Given the description of an element on the screen output the (x, y) to click on. 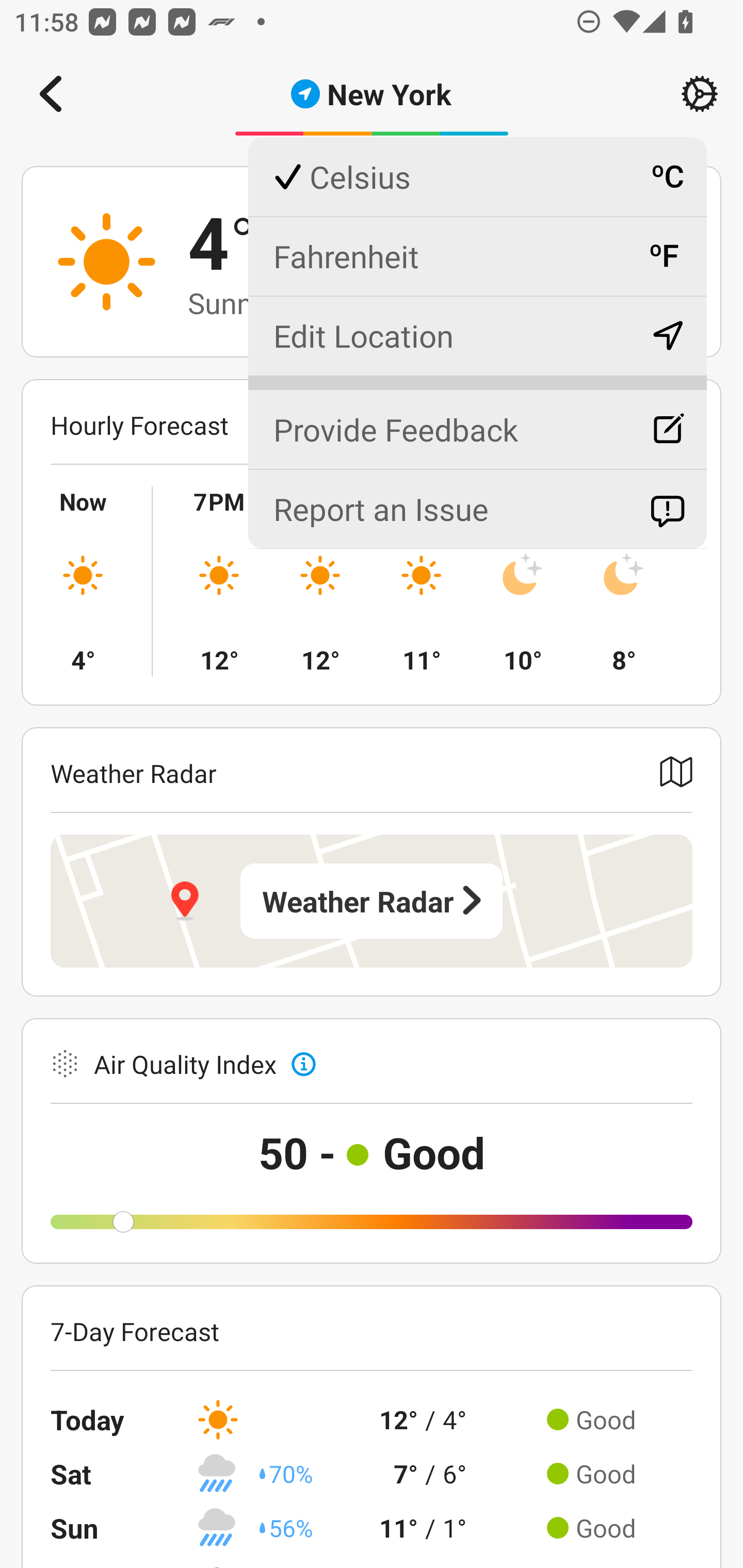
Celsius (477, 176)
Fahrenheit (477, 256)
Edit Location (477, 335)
Provide Feedback (477, 421)
Report an Issue (477, 508)
